Given the description of an element on the screen output the (x, y) to click on. 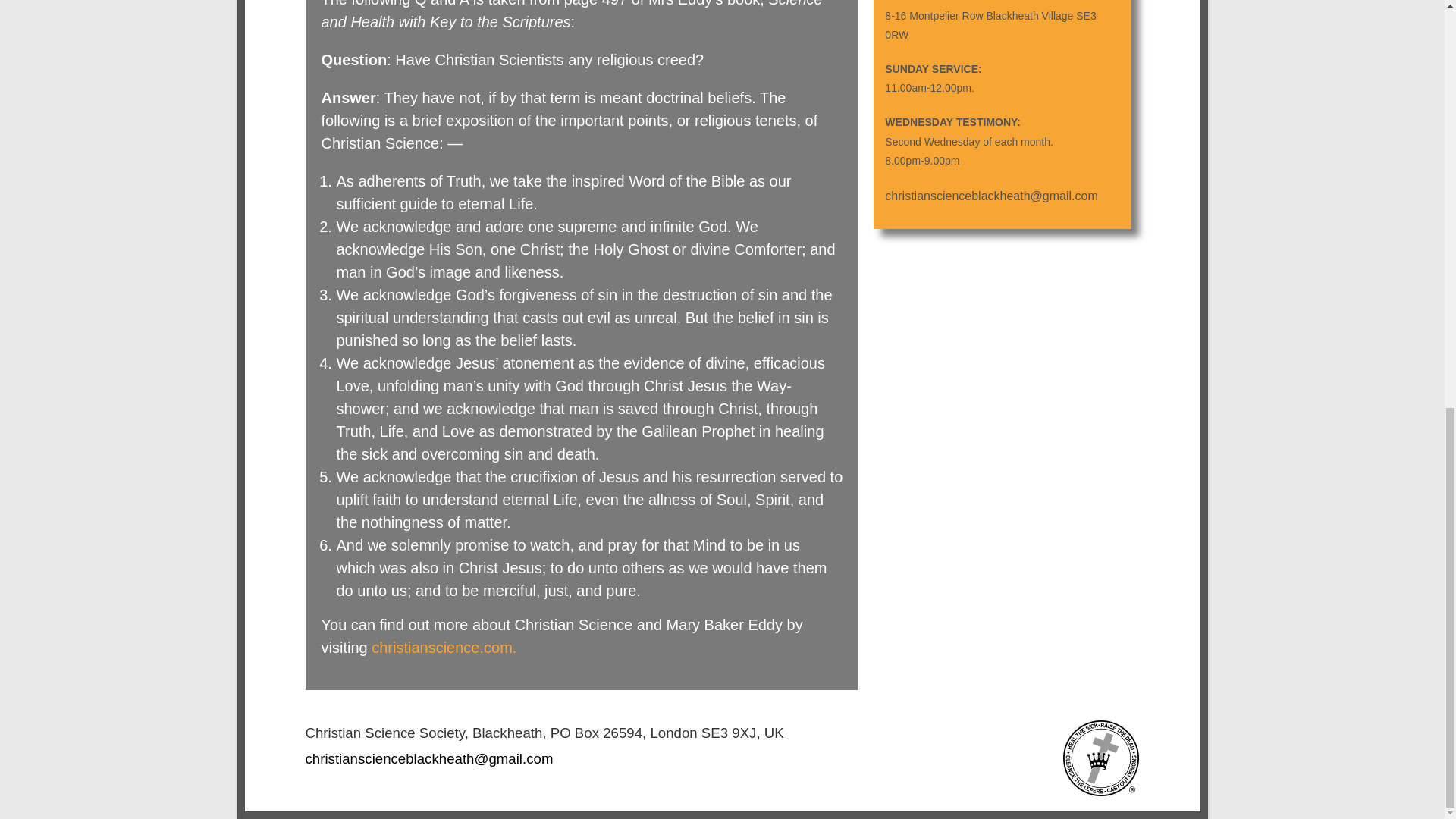
christianscience.com (441, 647)
